Given the description of an element on the screen output the (x, y) to click on. 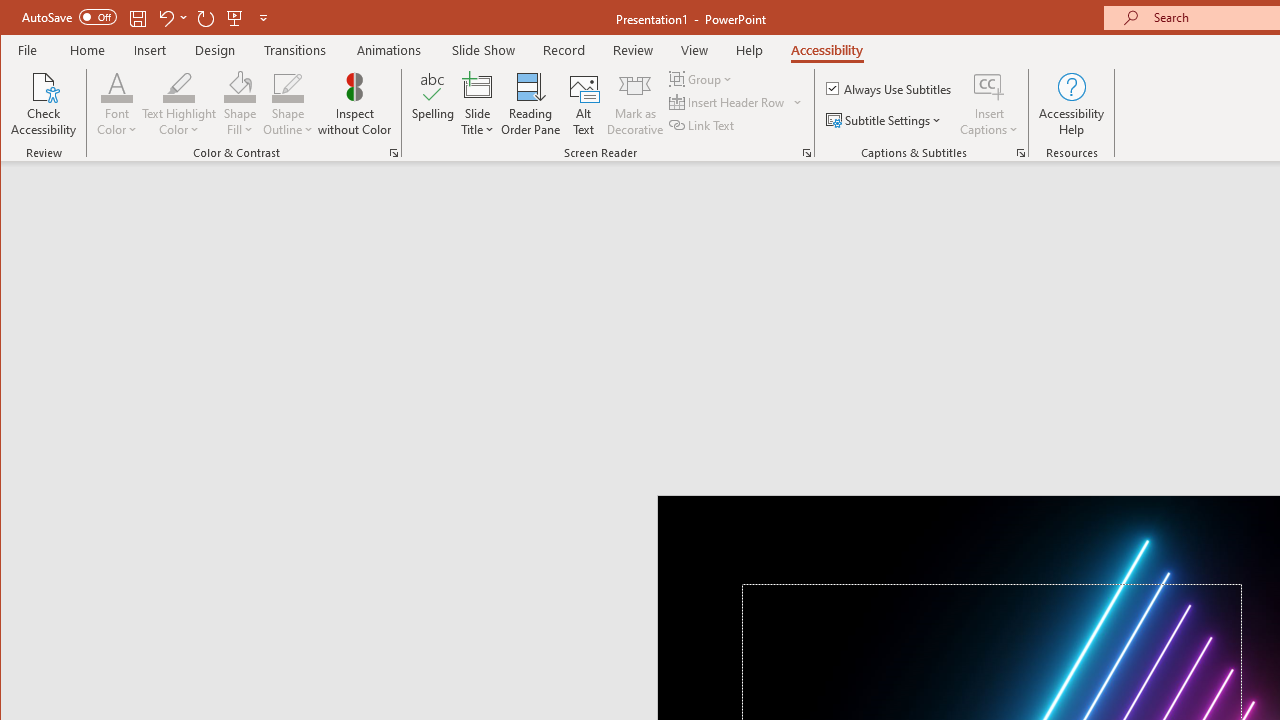
Captions & Subtitles (1020, 152)
Link Text (703, 124)
